Given the description of an element on the screen output the (x, y) to click on. 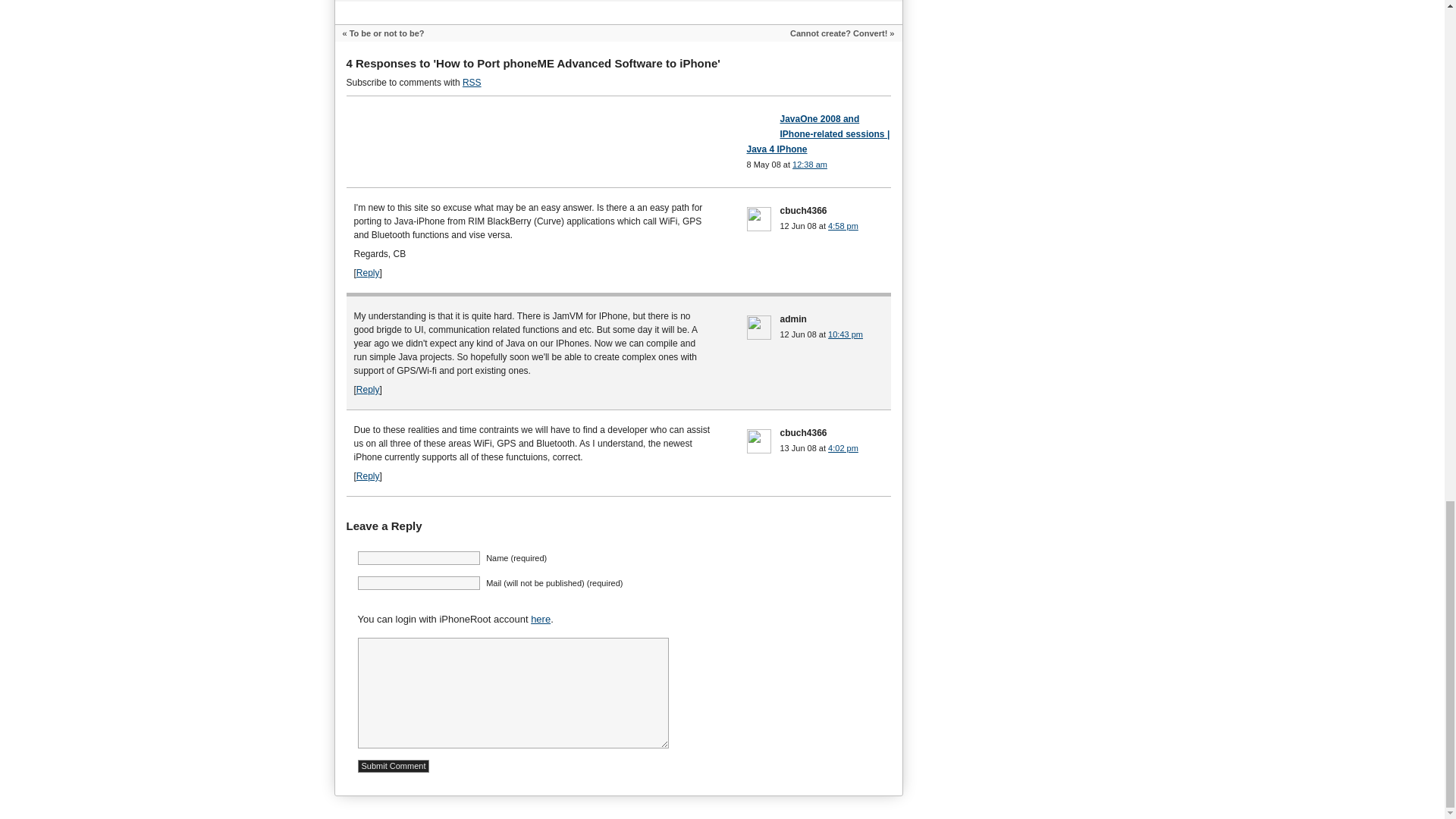
Submit Comment (393, 766)
Please review your comment before submitting (393, 766)
